Given the description of an element on the screen output the (x, y) to click on. 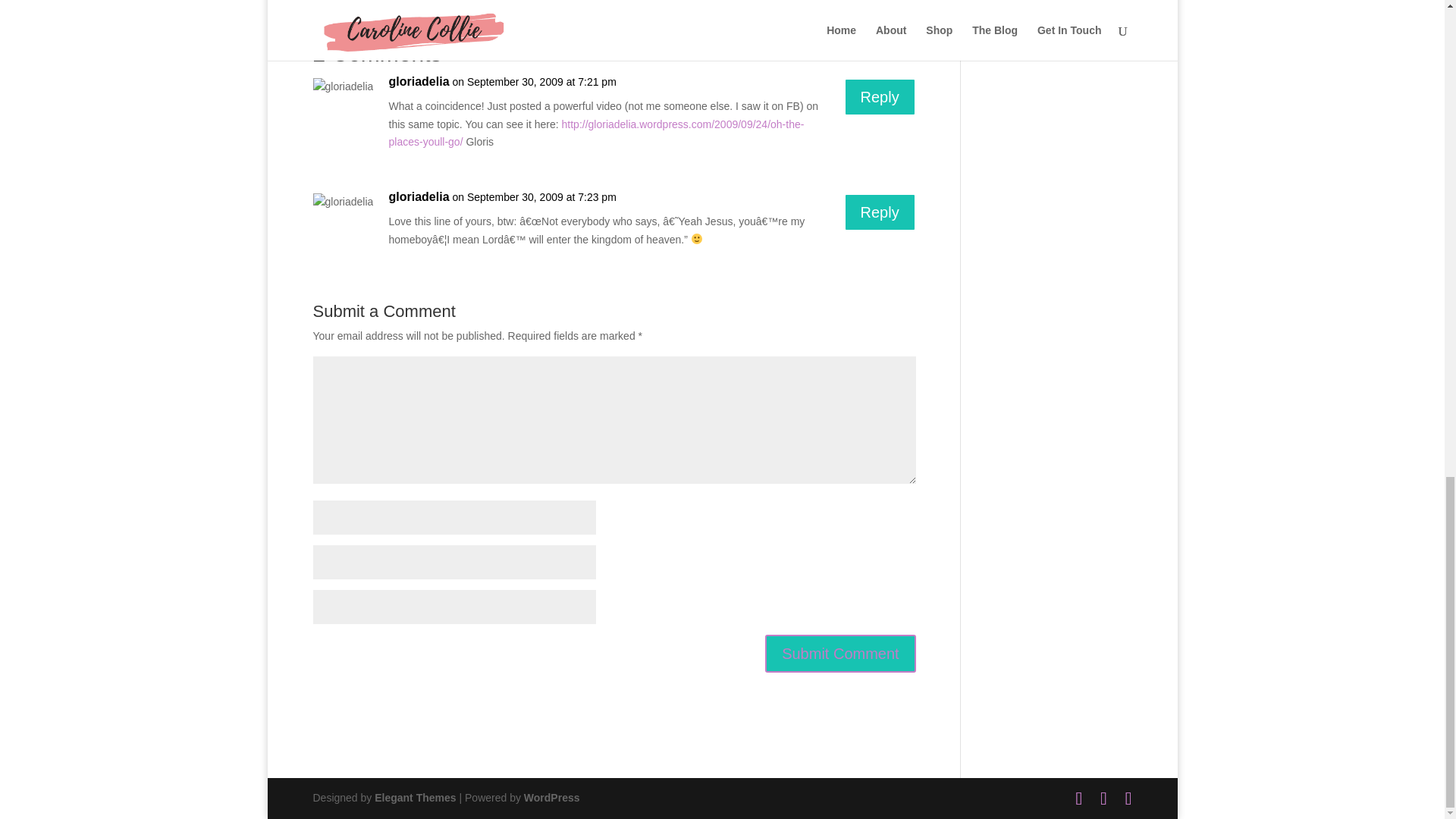
Elegant Themes (414, 797)
Reply (879, 96)
Reply (879, 211)
Premium WordPress Themes (414, 797)
Submit Comment (840, 653)
WordPress (551, 797)
Submit Comment (840, 653)
